Given the description of an element on the screen output the (x, y) to click on. 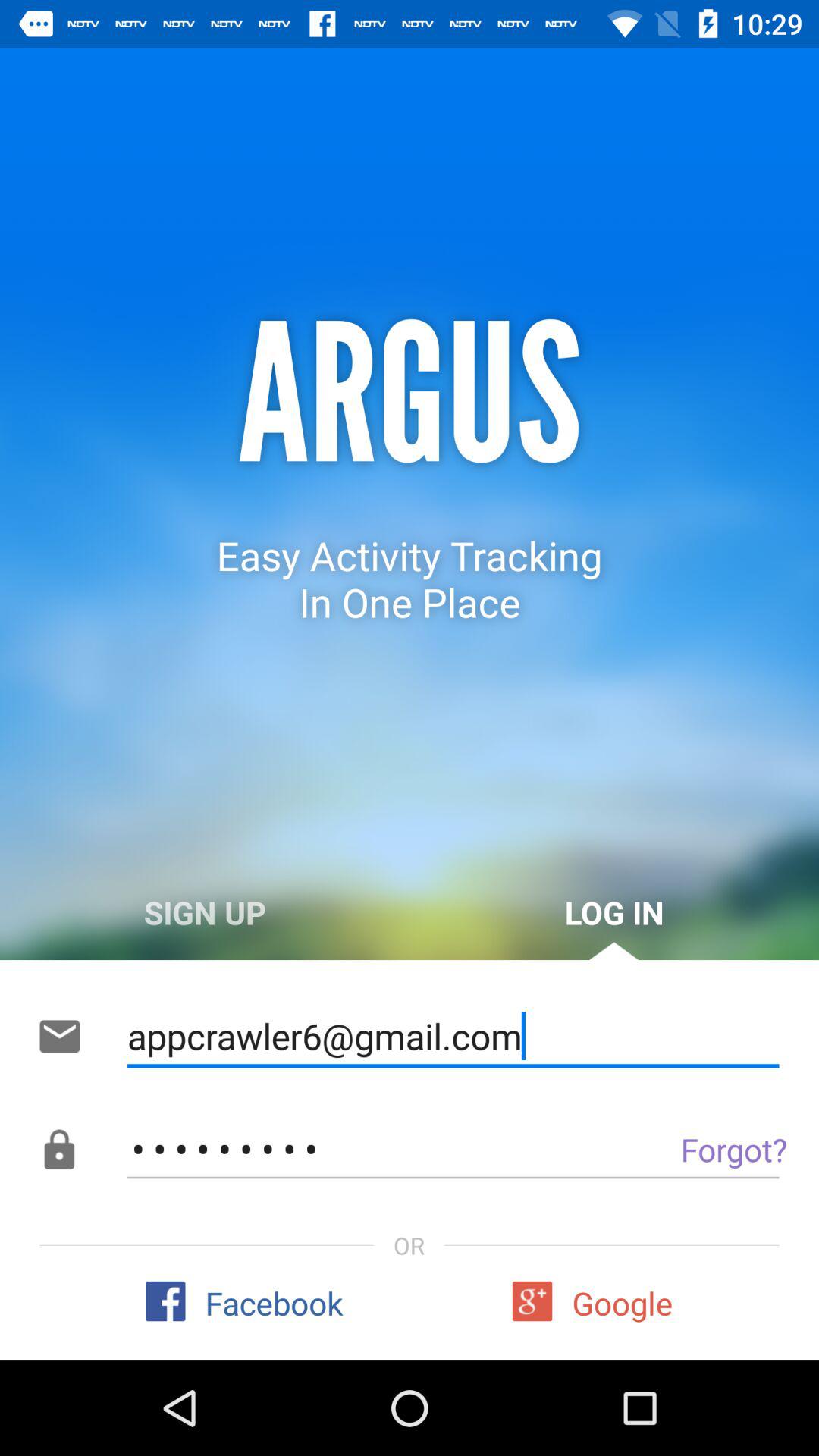
click the sign up on the left (204, 912)
